Given the description of an element on the screen output the (x, y) to click on. 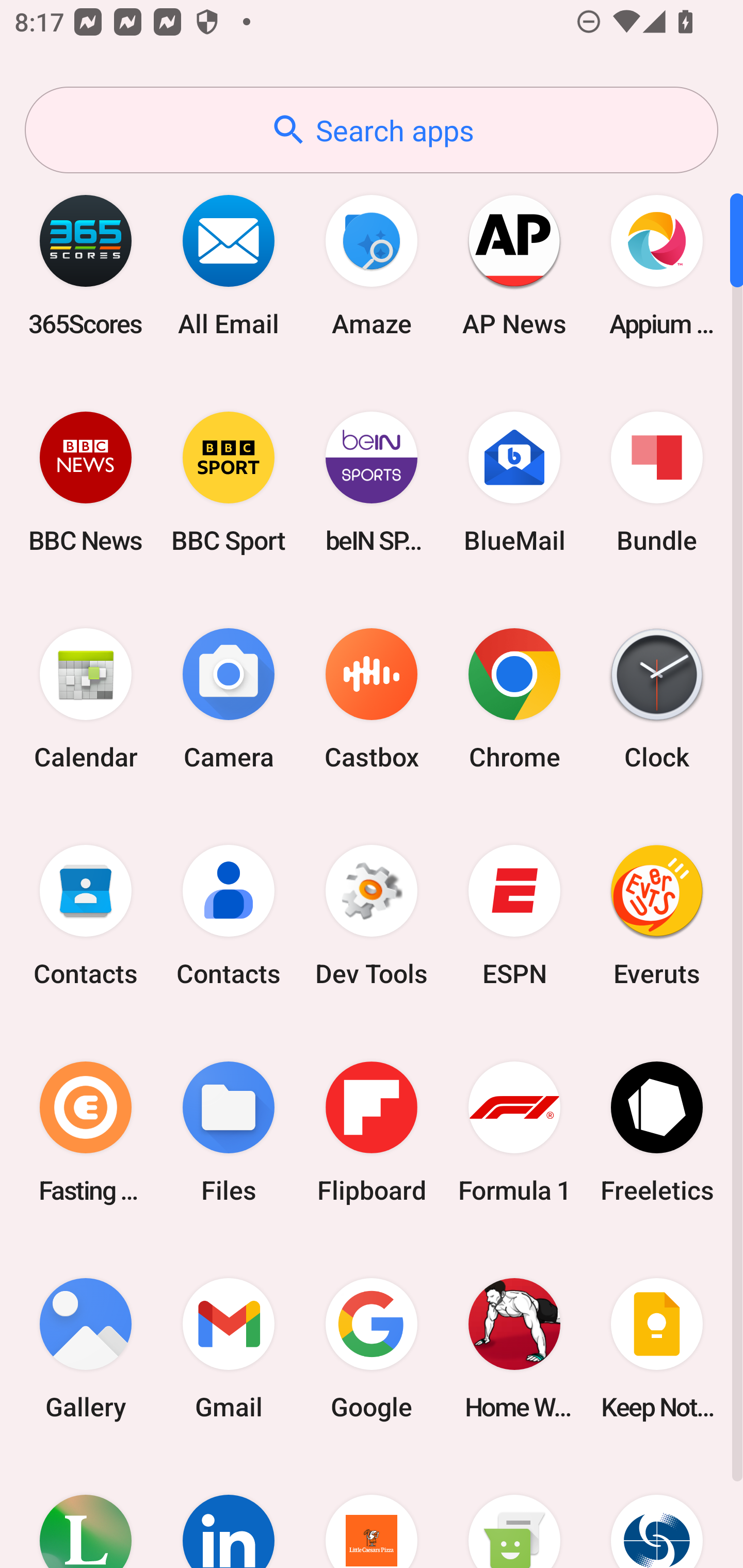
  Search apps (371, 130)
365Scores (85, 264)
All Email (228, 264)
Amaze (371, 264)
AP News (514, 264)
Appium Settings (656, 264)
BBC News (85, 482)
BBC Sport (228, 482)
beIN SPORTS (371, 482)
BlueMail (514, 482)
Bundle (656, 482)
Calendar (85, 699)
Camera (228, 699)
Castbox (371, 699)
Chrome (514, 699)
Clock (656, 699)
Contacts (85, 915)
Contacts (228, 915)
Dev Tools (371, 915)
ESPN (514, 915)
Everuts (656, 915)
Fasting Coach (85, 1131)
Files (228, 1131)
Flipboard (371, 1131)
Formula 1 (514, 1131)
Freeletics (656, 1131)
Gallery (85, 1348)
Gmail (228, 1348)
Google (371, 1348)
Home Workout (514, 1348)
Keep Notes (656, 1348)
